Given the description of an element on the screen output the (x, y) to click on. 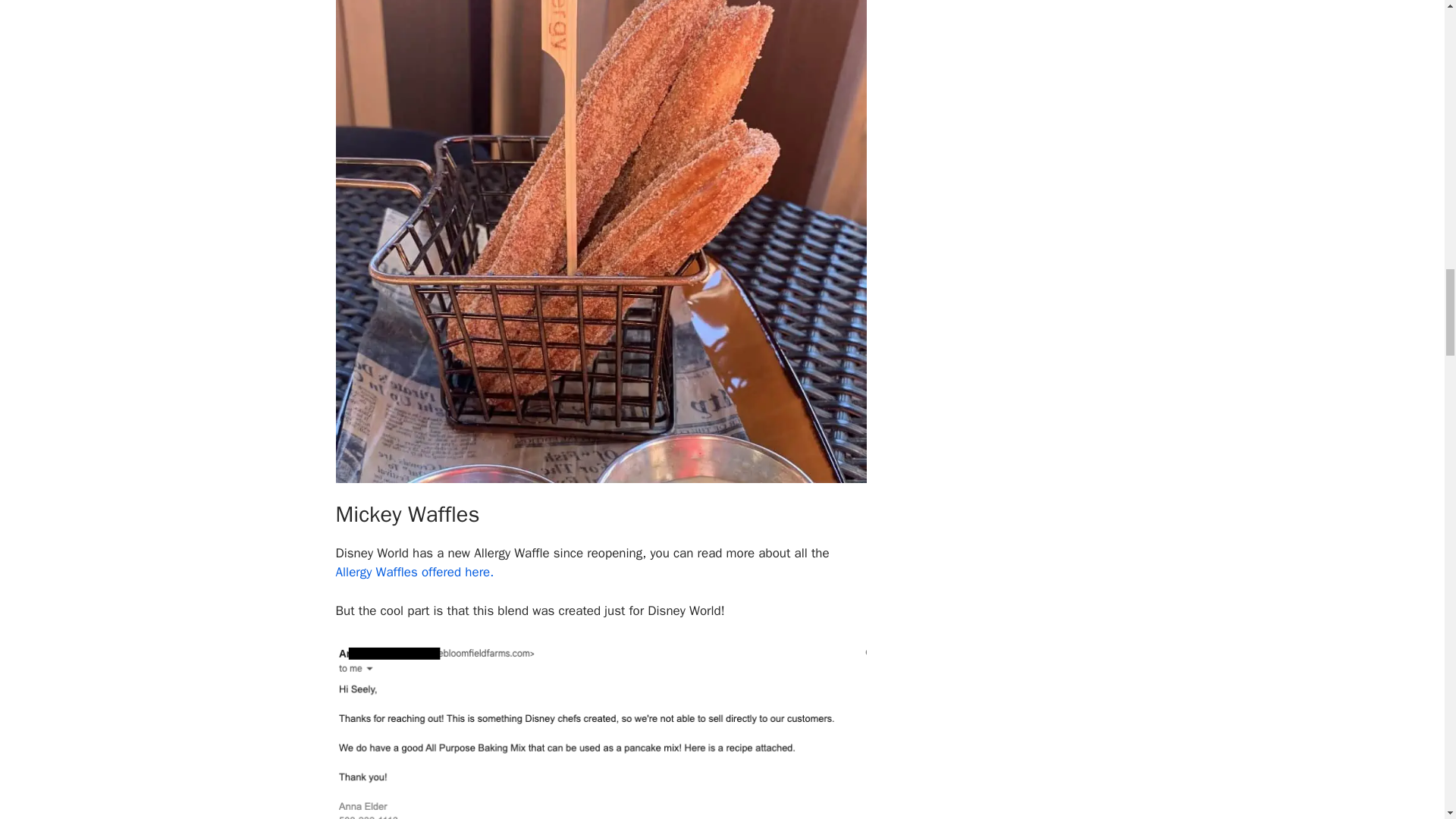
Allergy Waffles offered here. (413, 571)
